Given the description of an element on the screen output the (x, y) to click on. 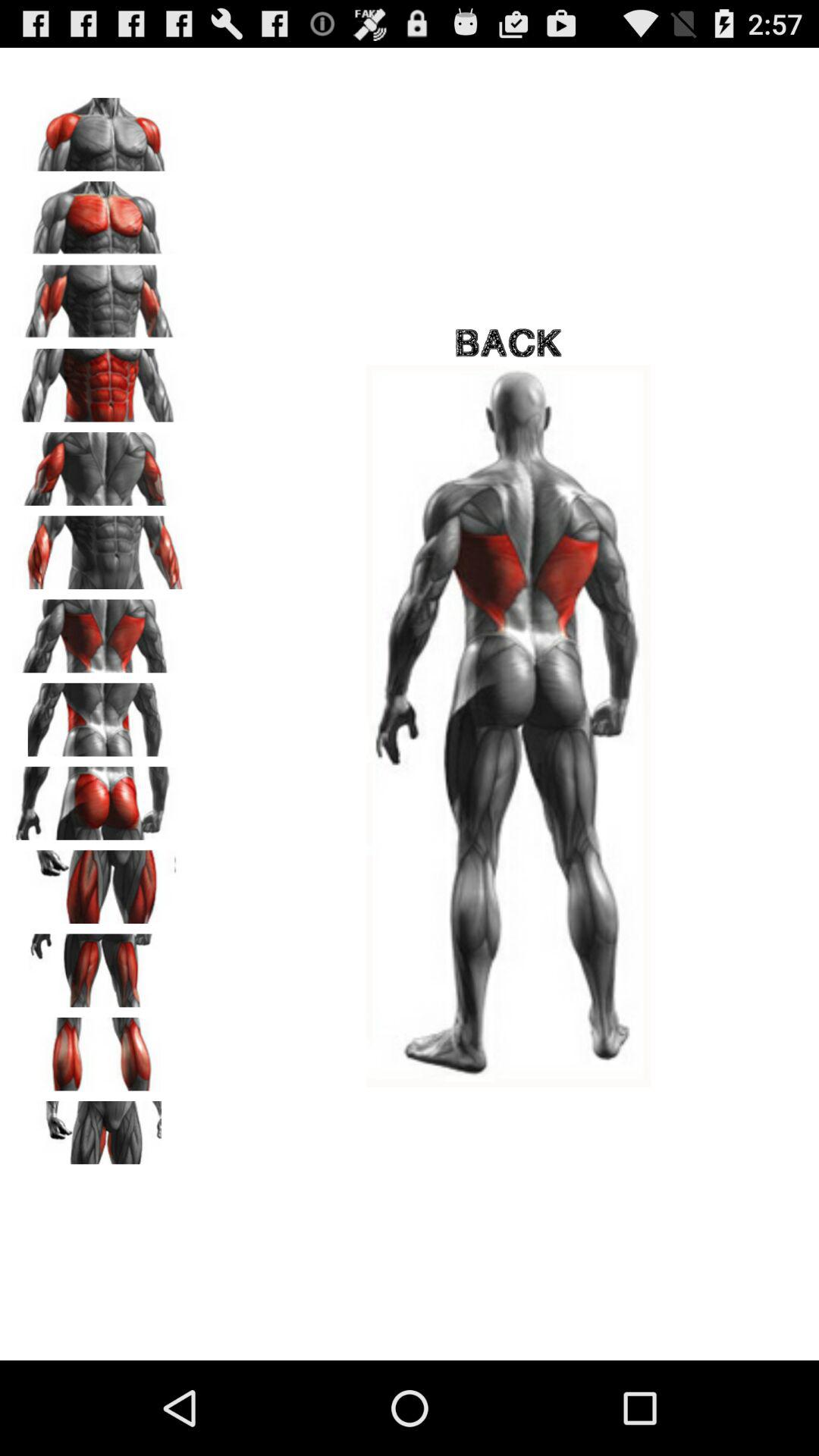
select thighs (99, 965)
